Given the description of an element on the screen output the (x, y) to click on. 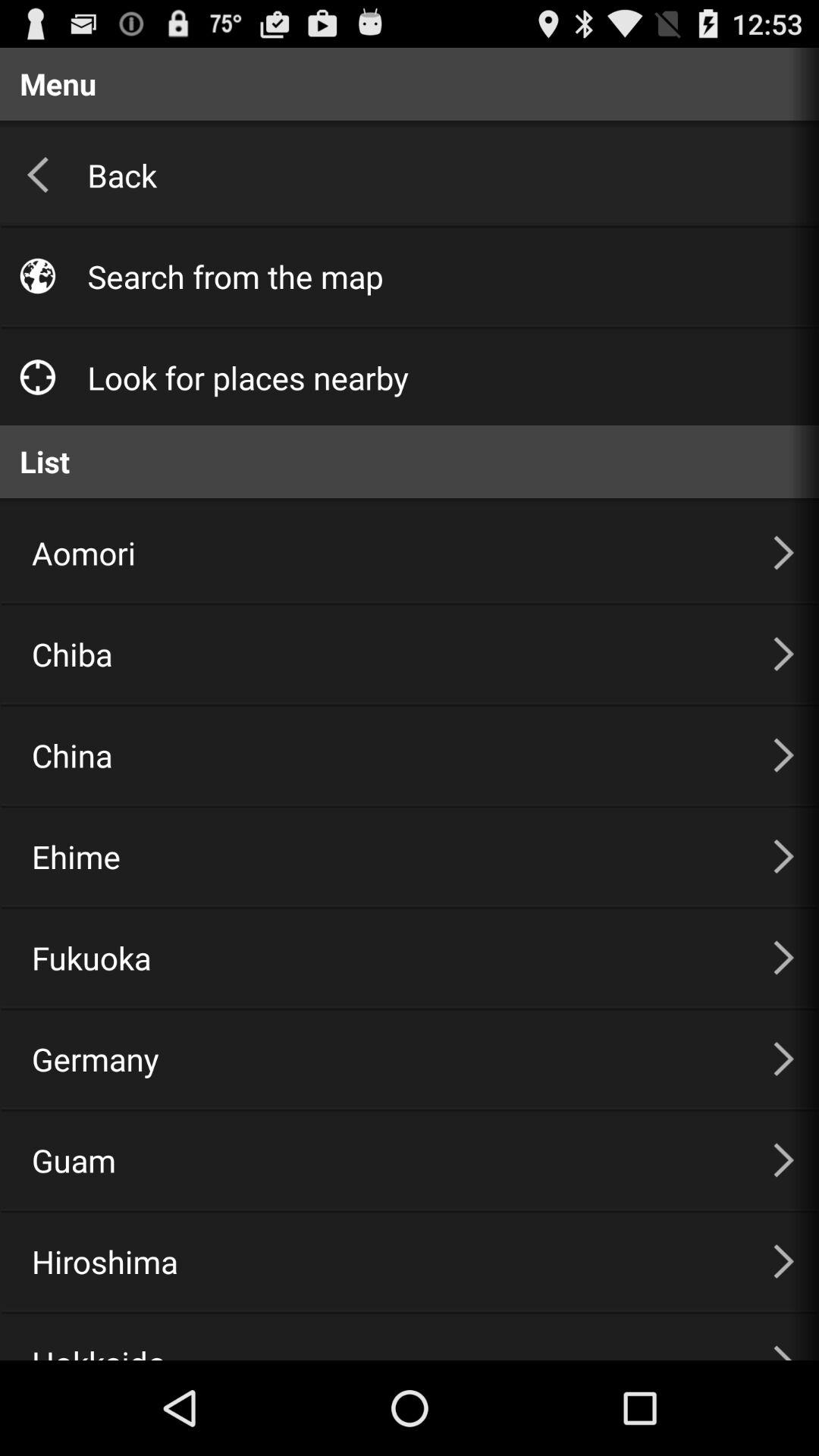
select the icon above the hiroshima icon (384, 1160)
